Given the description of an element on the screen output the (x, y) to click on. 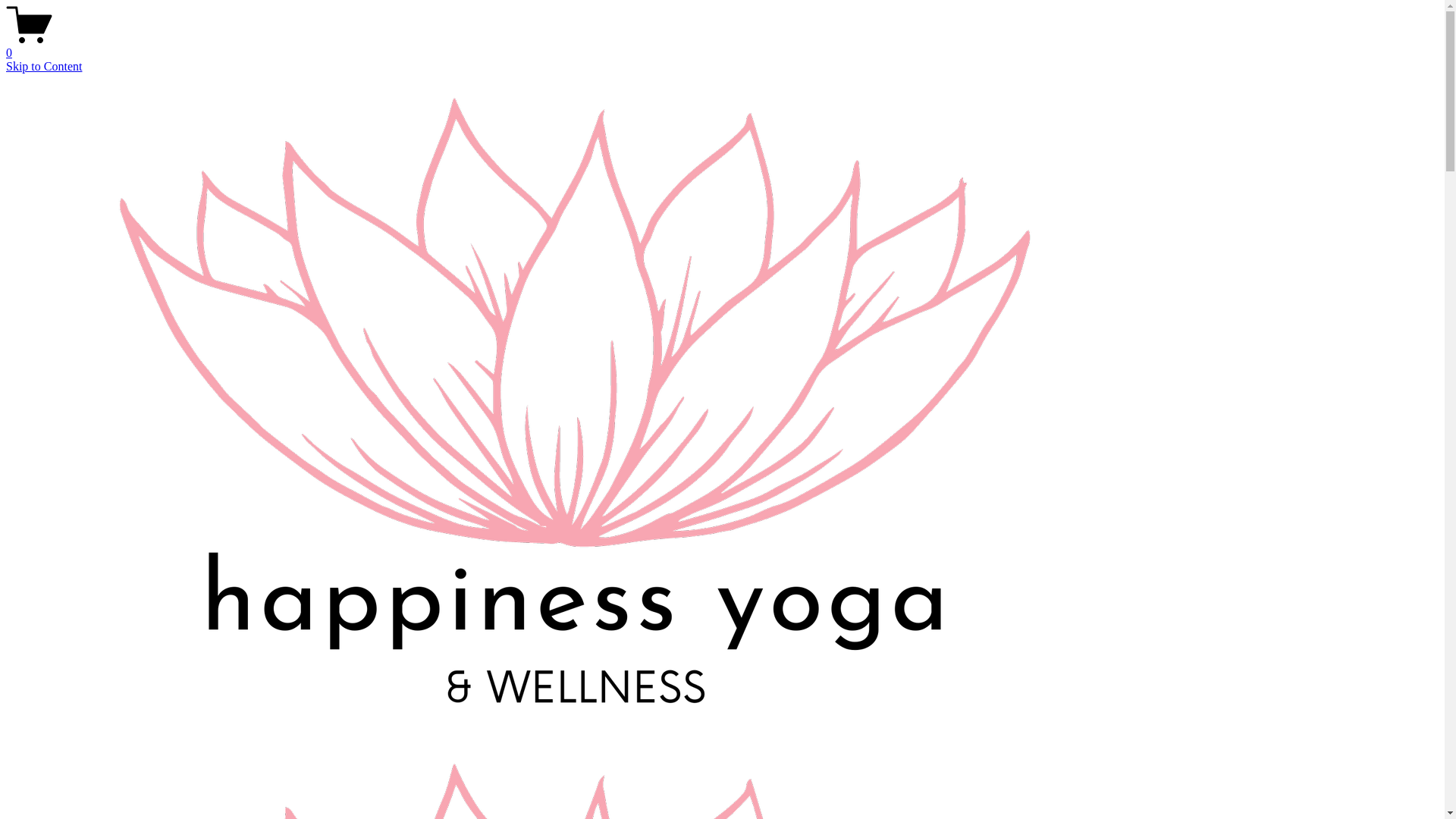
Skip to Content Element type: text (43, 65)
0 Element type: text (722, 45)
